Given the description of an element on the screen output the (x, y) to click on. 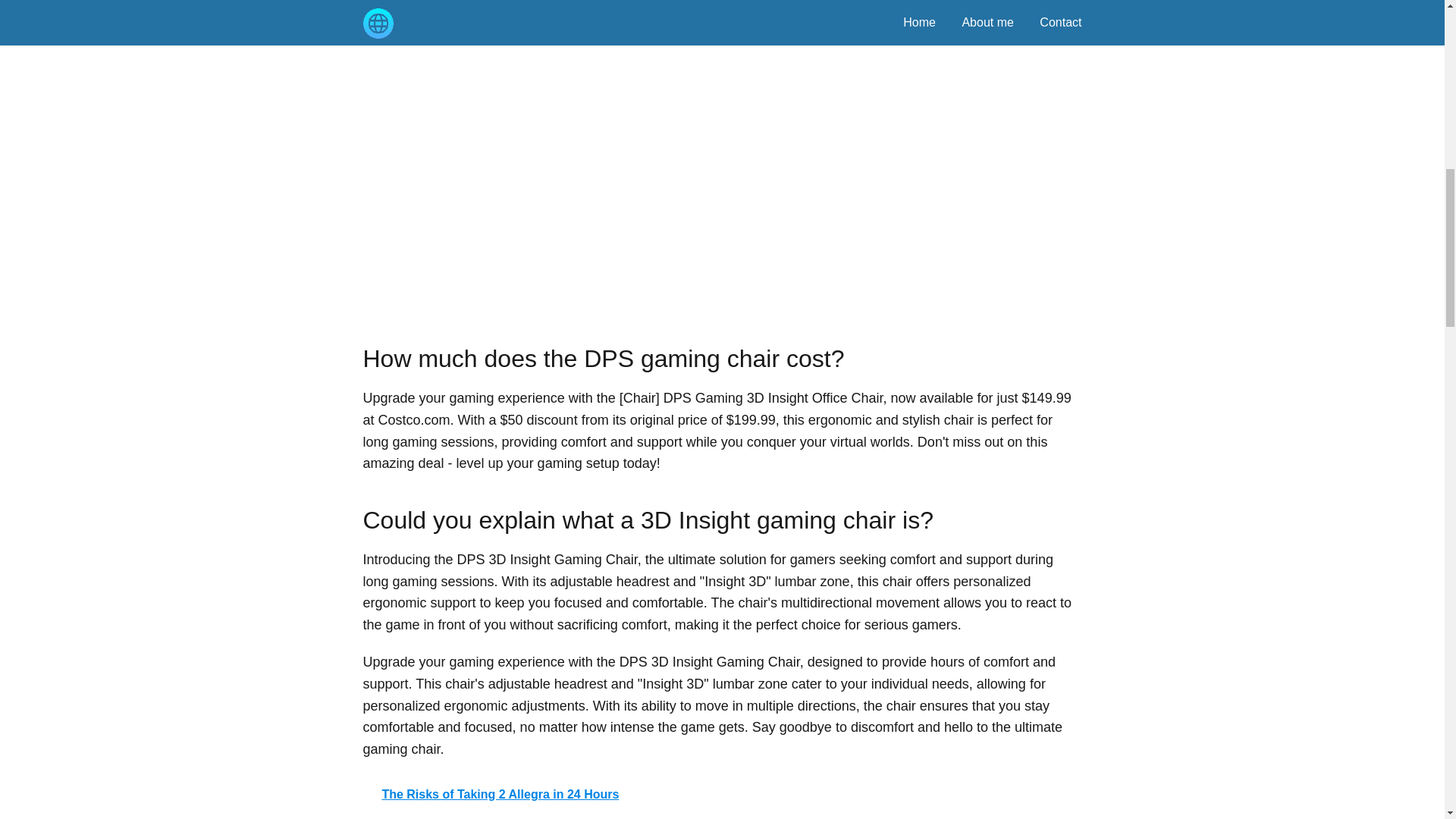
  The Risks of Taking 2 Allegra in 24 Hours (721, 794)
